Given the description of an element on the screen output the (x, y) to click on. 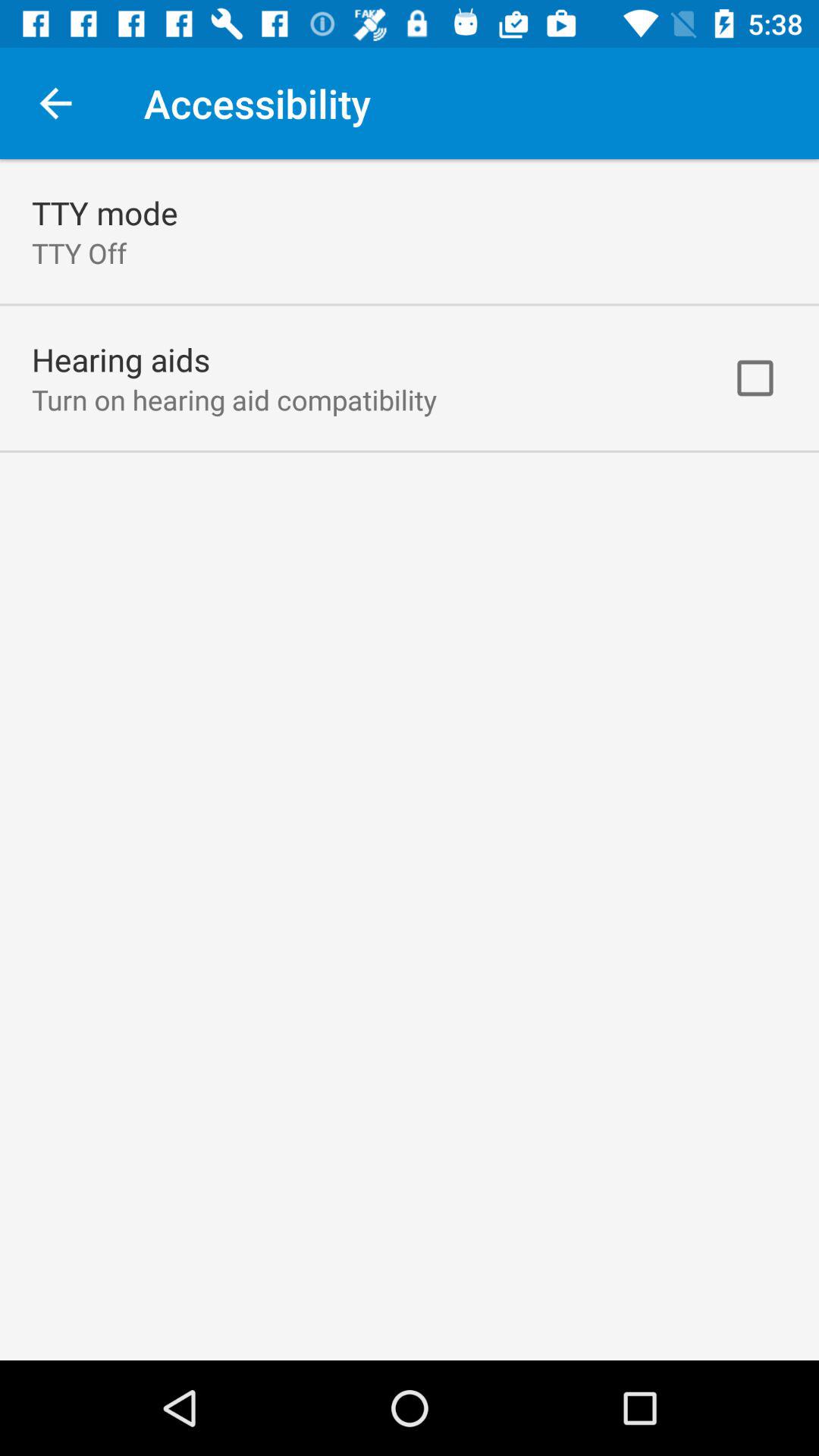
select the icon below tty off app (120, 359)
